Given the description of an element on the screen output the (x, y) to click on. 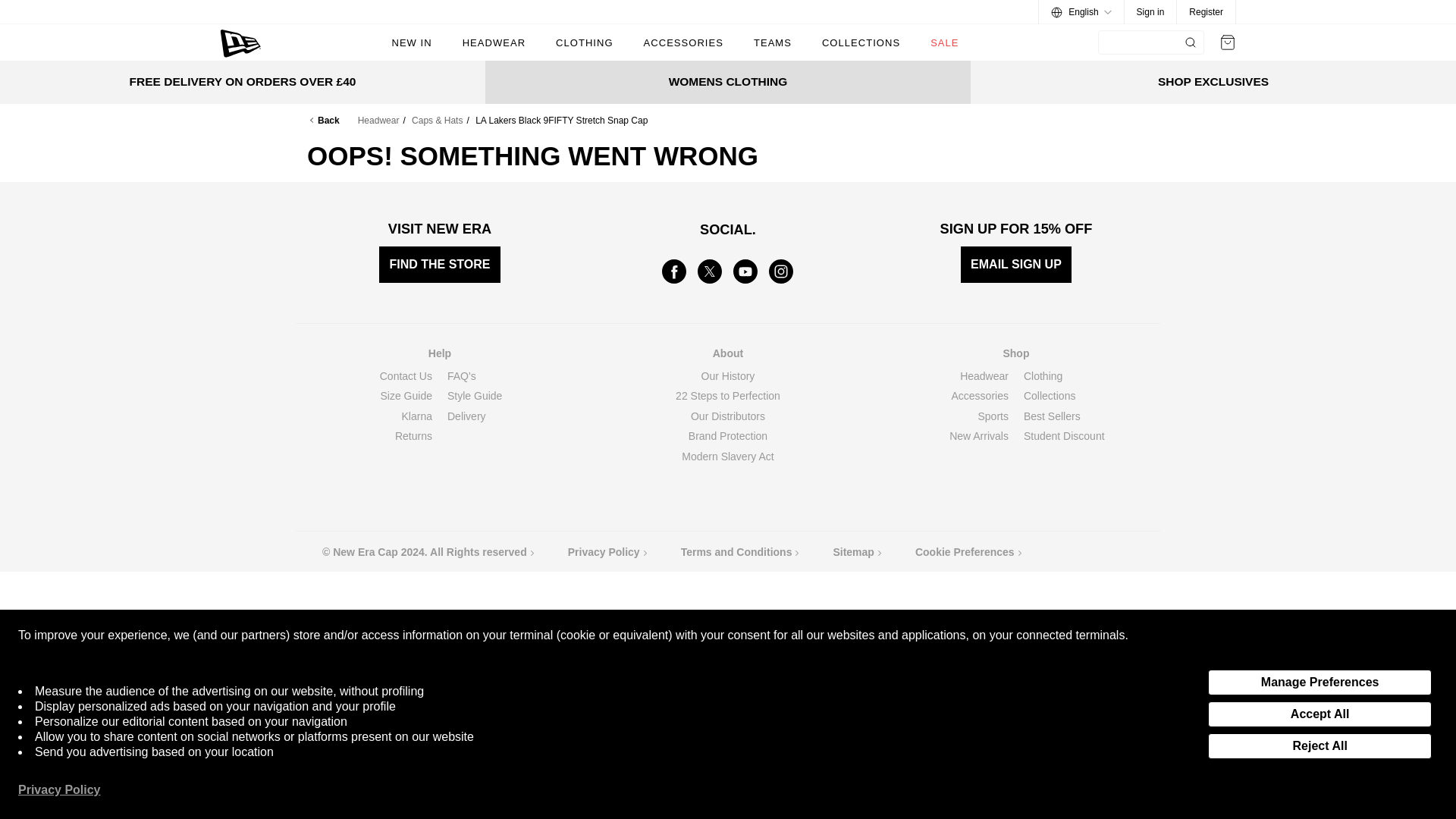
Modern Slavery Act (727, 456)
Klarna (416, 416)
English (1080, 12)
Our History (728, 376)
Brand Protection (727, 435)
Sign in (1150, 12)
New Arrivals (979, 435)
Size Guide (406, 395)
HEADWEAR (493, 42)
Delivery (466, 416)
